Given the description of an element on the screen output the (x, y) to click on. 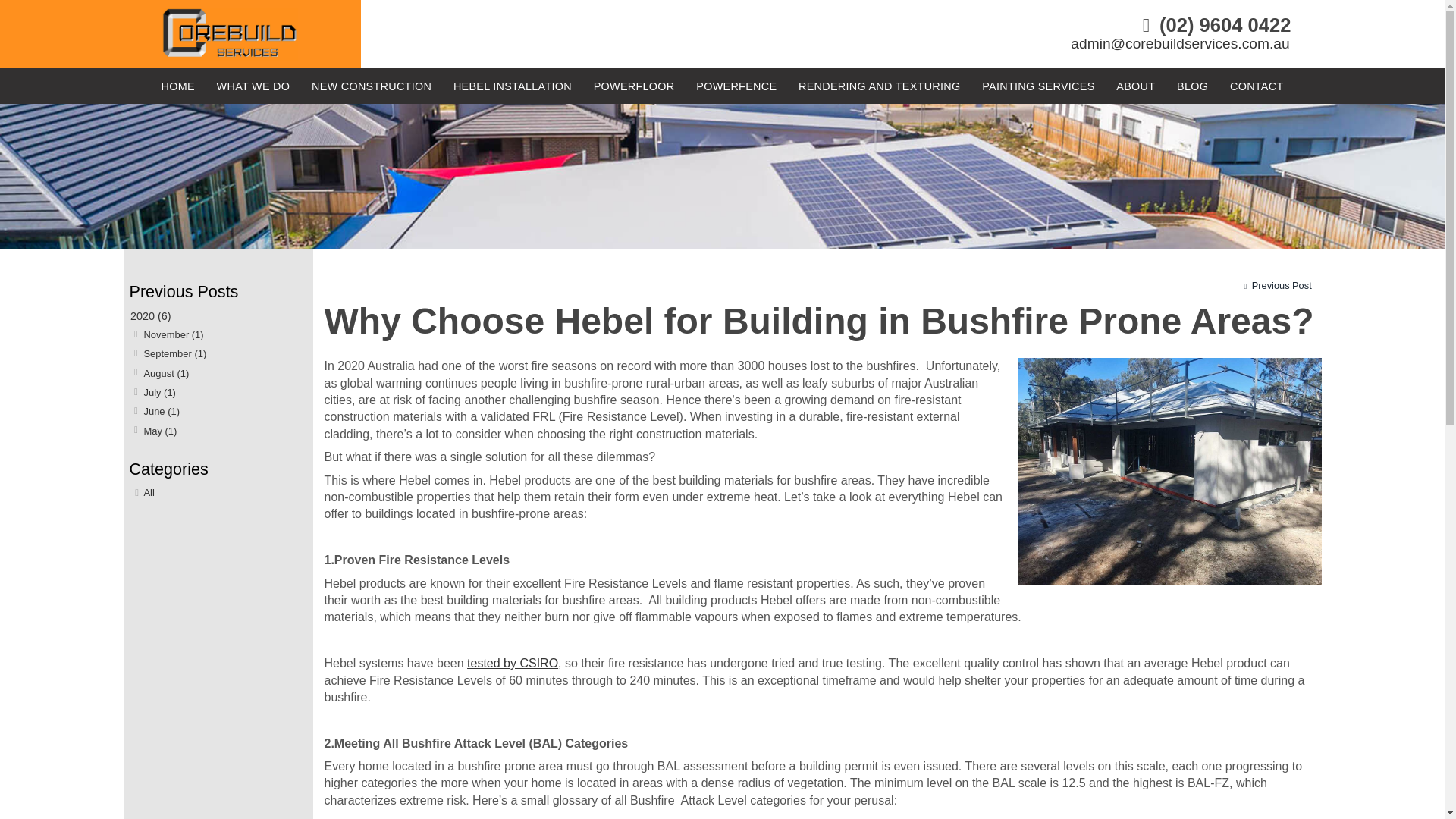
RENDERING AND TEXTURING (879, 85)
BLOG (1192, 85)
HEBEL INSTALLATION (512, 85)
POWERFLOOR (634, 85)
NEW CONSTRUCTION (371, 85)
HOME (177, 85)
POWERFENCE (736, 85)
WHAT WE DO (253, 85)
PAINTING SERVICES (1038, 85)
CONTACT (1257, 85)
ABOUT (1134, 85)
